Given the description of an element on the screen output the (x, y) to click on. 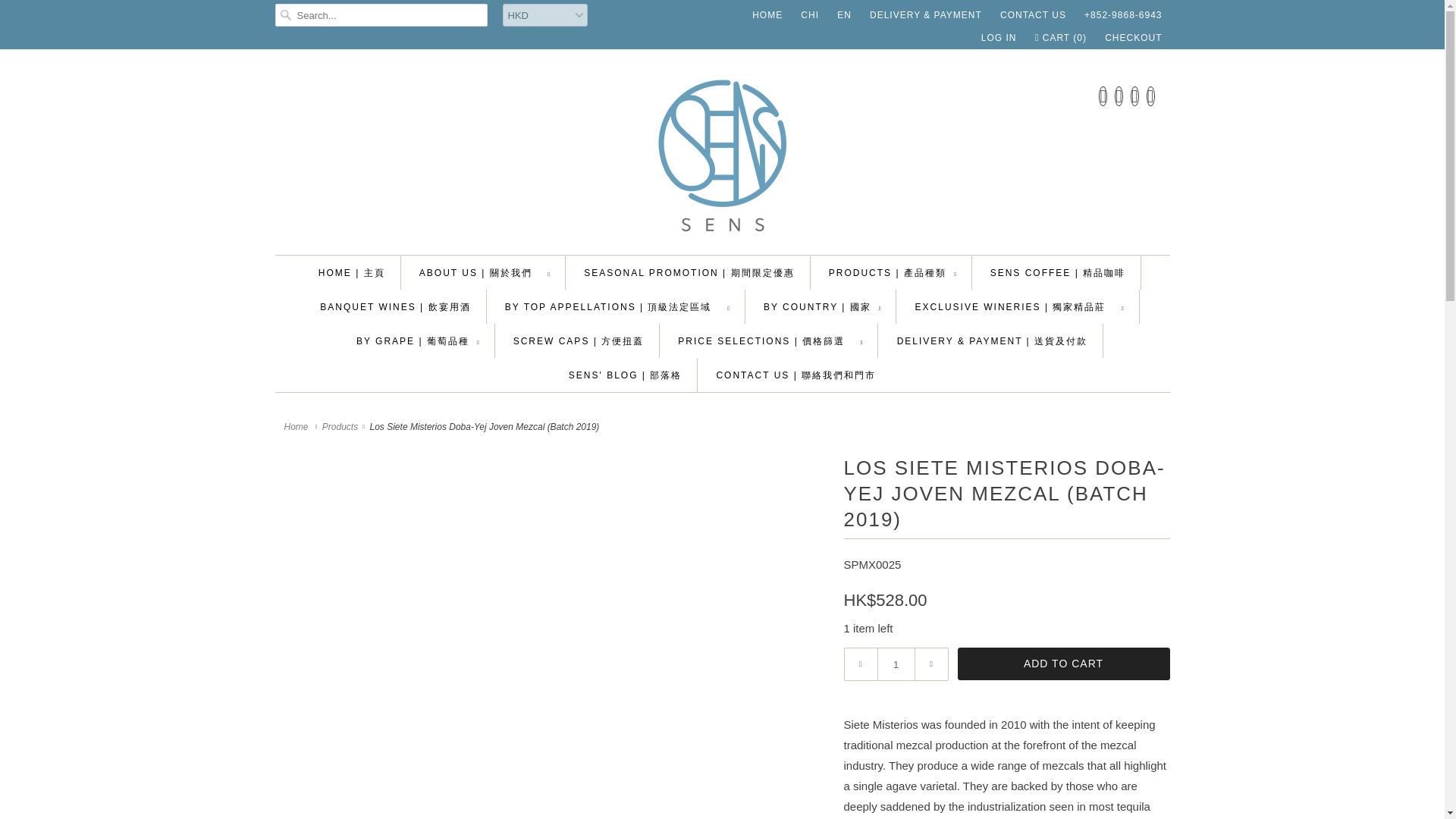
CHECKOUT (1133, 37)
HOME (767, 15)
SENS (296, 426)
Products (339, 426)
1 (895, 663)
SENS (721, 155)
LOG IN (998, 37)
CONTACT US (1032, 15)
